Given the description of an element on the screen output the (x, y) to click on. 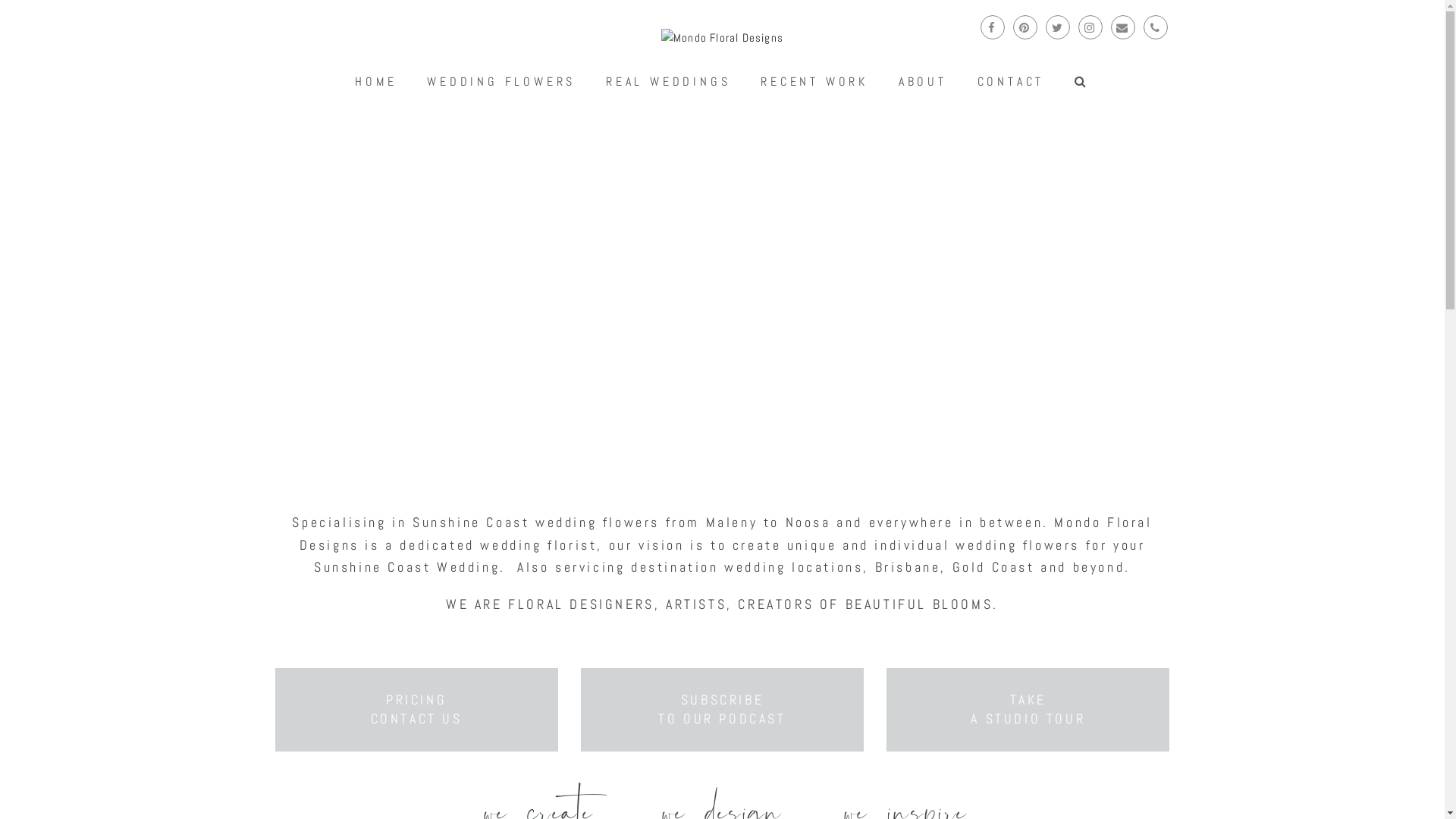
Instagram Element type: text (1090, 27)
ABOUT Element type: text (922, 81)
RECENT WORK Element type: text (813, 81)
Pinterest Element type: text (1025, 27)
Facebook Element type: text (991, 27)
Twitter Element type: text (1056, 27)
SUBSCRIBE
TO OUR PODCAST Element type: text (721, 708)
HOME Element type: text (375, 81)
PRICING
CONTACT US Element type: text (416, 708)
TAKE
A STUDIO TOUR Element type: text (1027, 708)
REAL WEDDINGS Element type: text (667, 81)
WEDDING FLOWERS Element type: text (501, 81)
Email Element type: text (1122, 27)
CONTACT Element type: text (1010, 81)
Phone Element type: text (1155, 27)
